Given the description of an element on the screen output the (x, y) to click on. 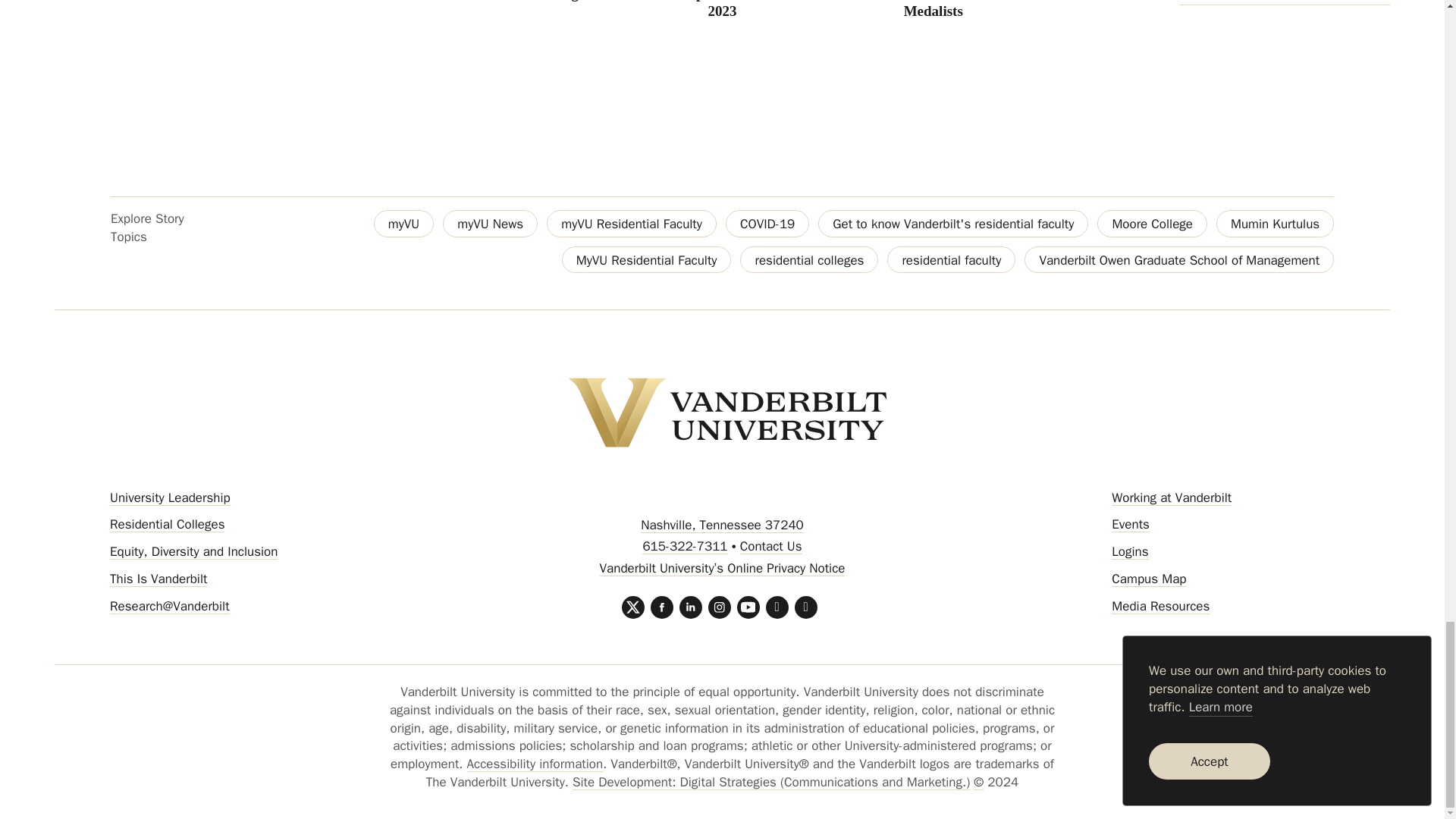
myVU News (489, 222)
myVU (403, 222)
Daring To Grow: The Stories That Shaped Vanderbilt In 2023 (722, 9)
